Given the description of an element on the screen output the (x, y) to click on. 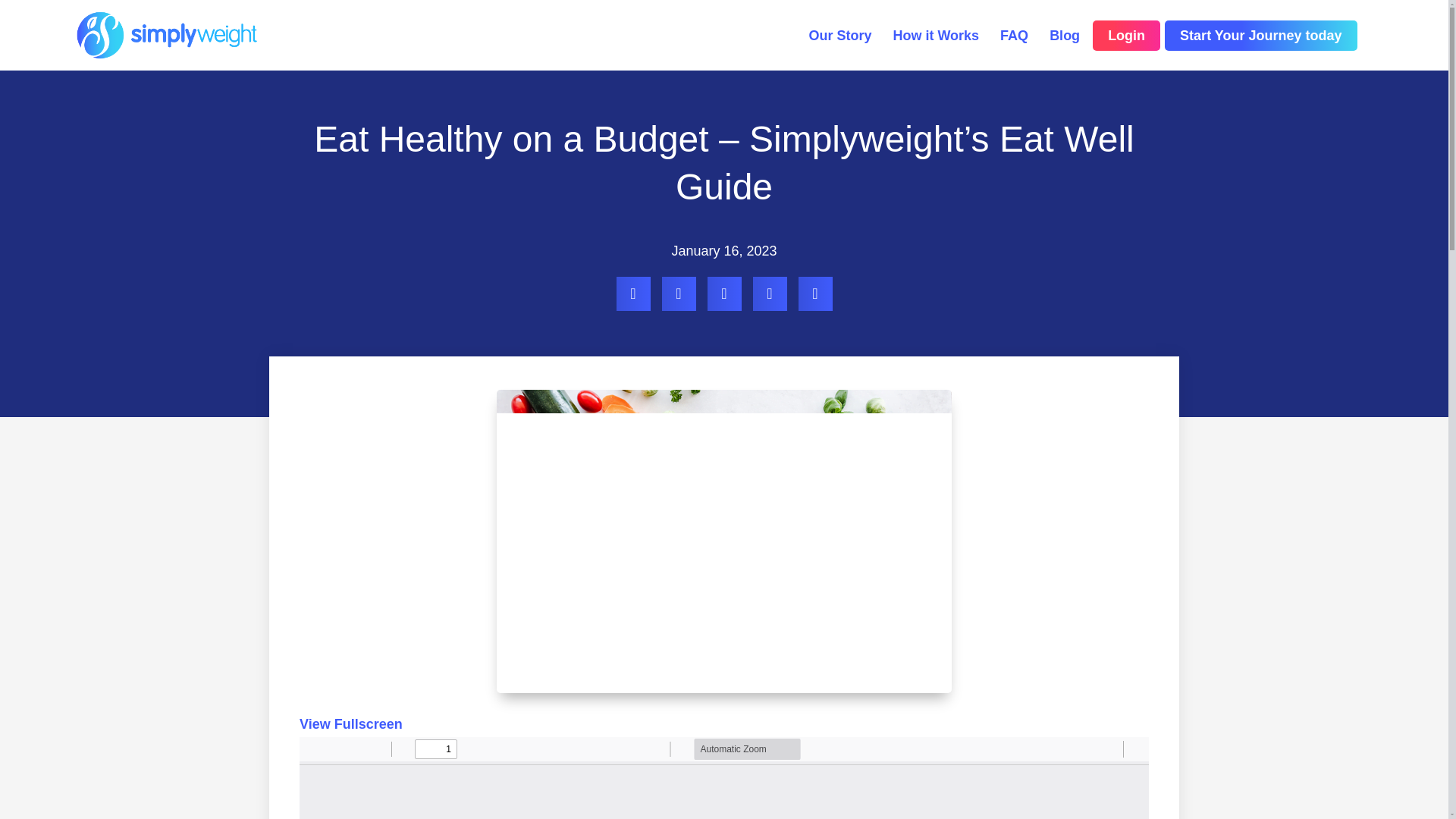
How it Works (935, 35)
Start Your Journey today (1260, 35)
Embedded PDF (723, 778)
Our Story (839, 35)
View Fullscreen (351, 724)
Login (1126, 35)
